Given the description of an element on the screen output the (x, y) to click on. 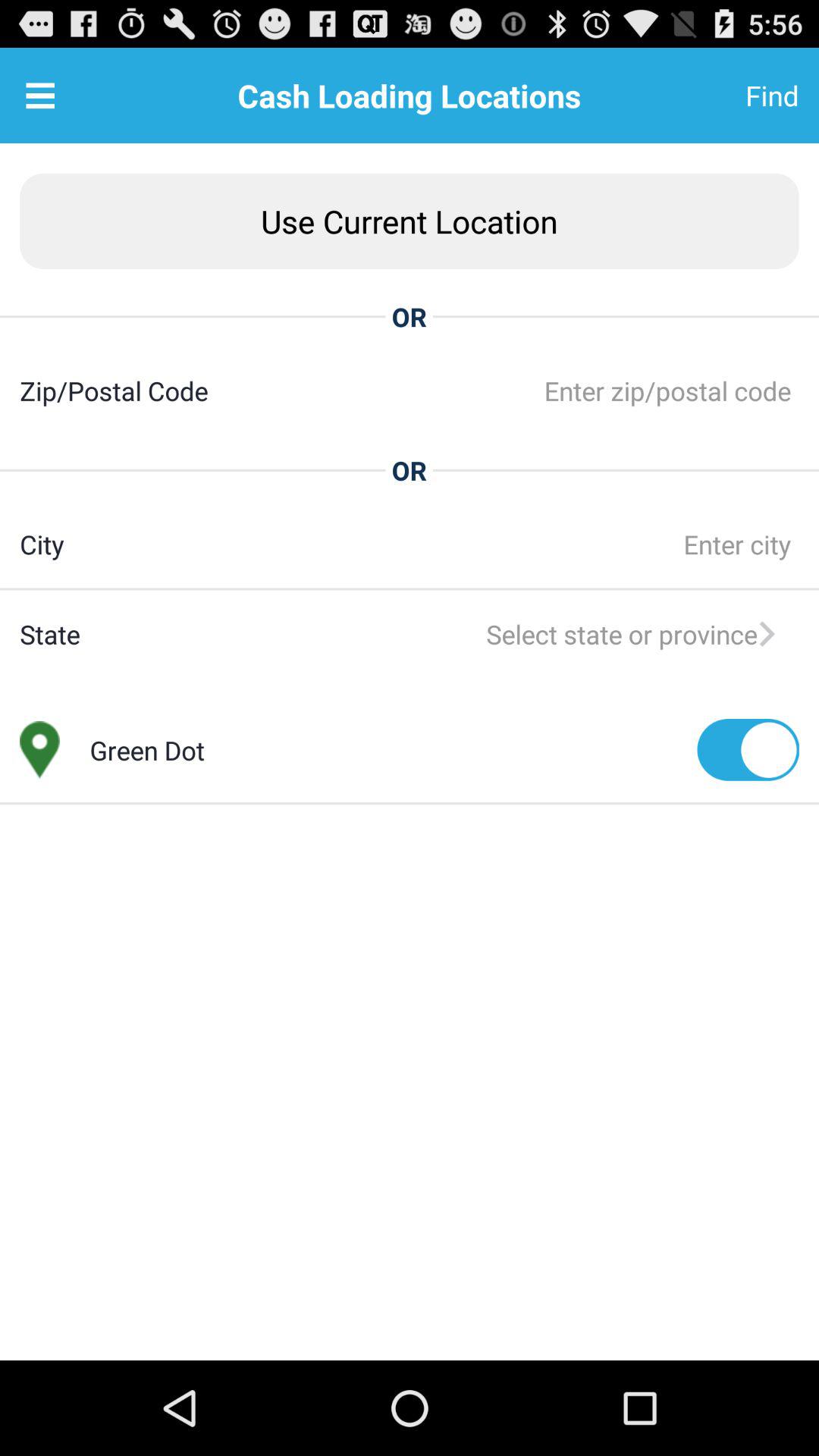
open the icon next to city icon (431, 543)
